Given the description of an element on the screen output the (x, y) to click on. 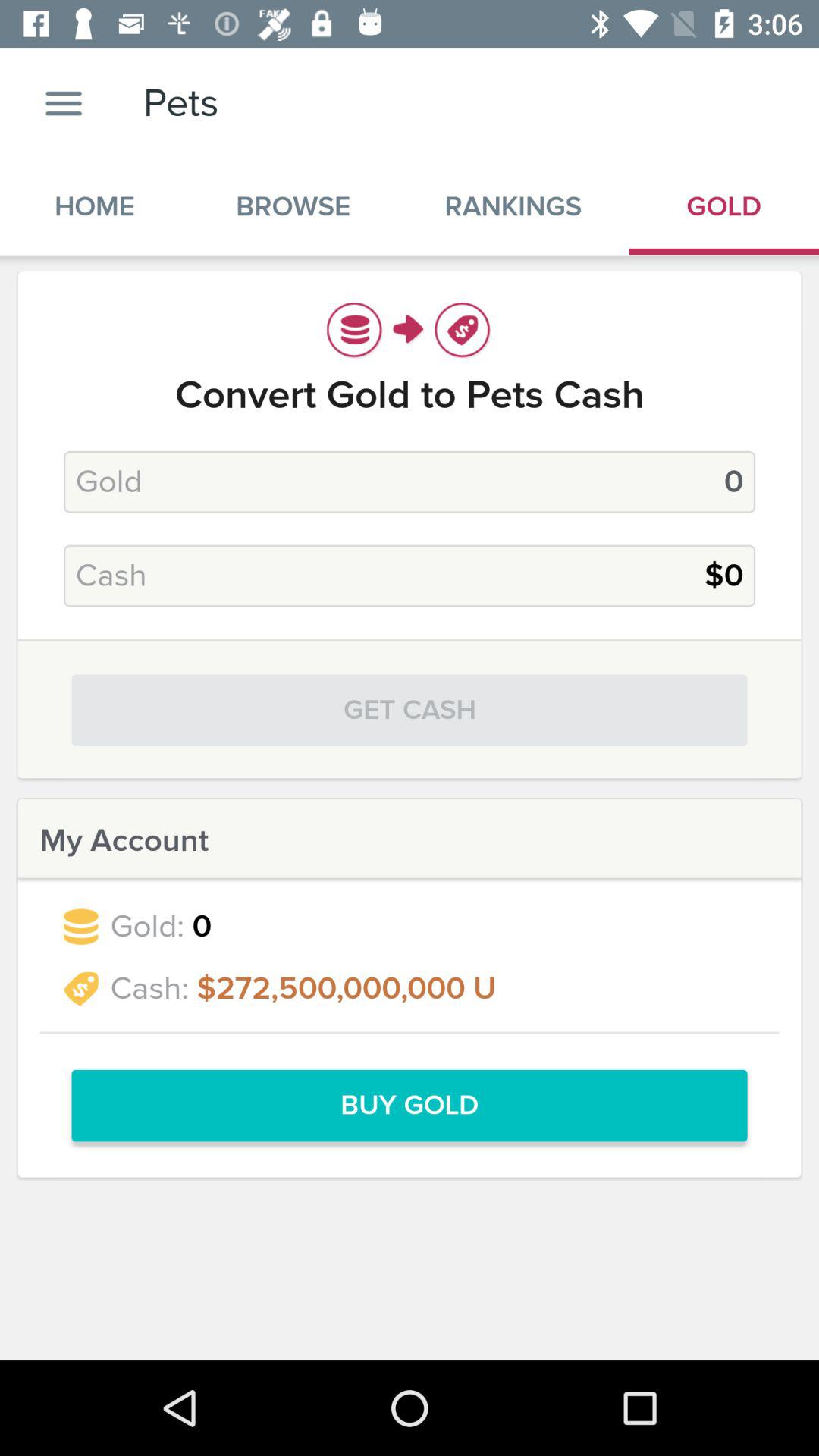
turn on icon below the cash (409, 710)
